Given the description of an element on the screen output the (x, y) to click on. 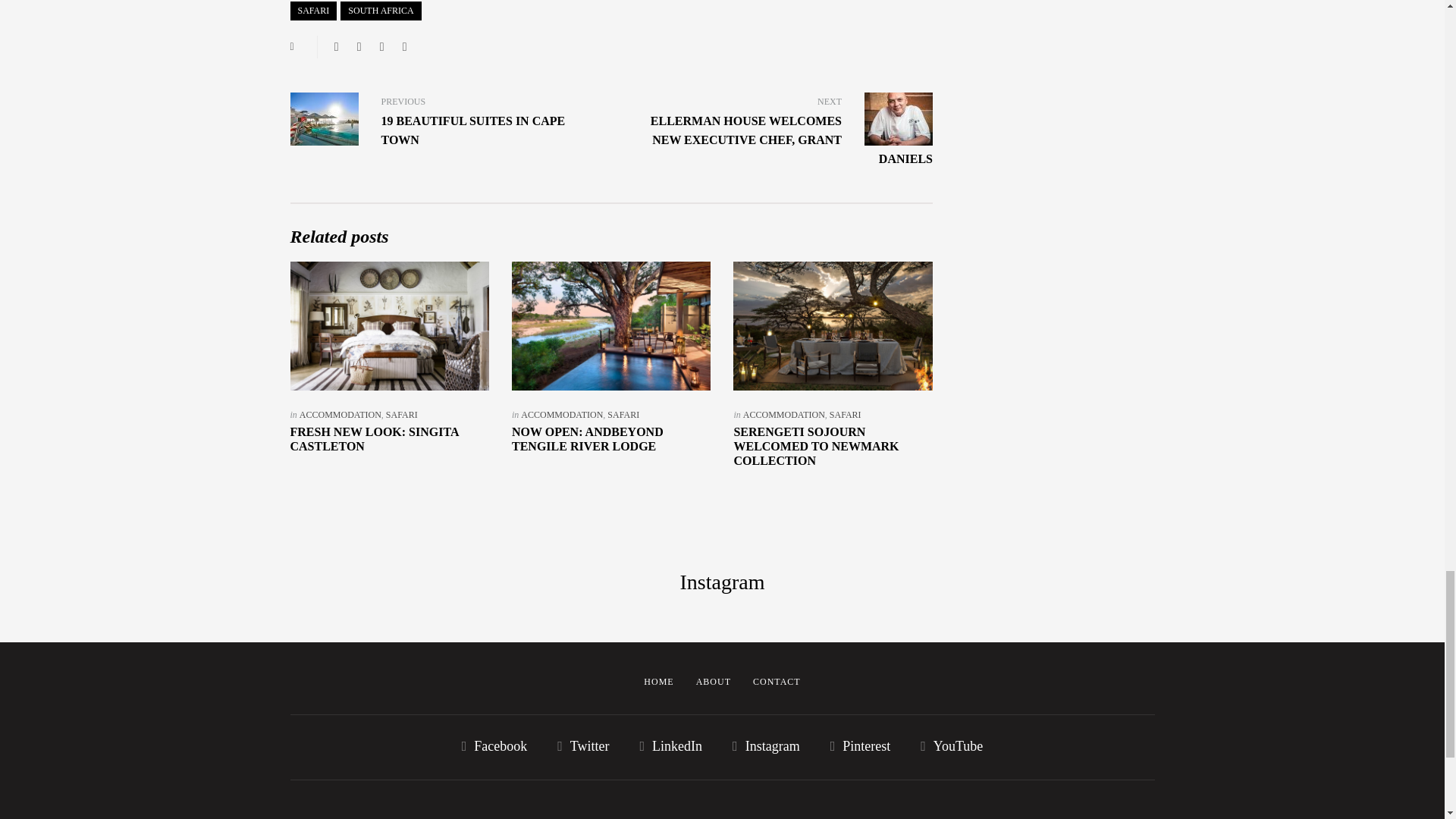
Tweet this (359, 47)
SAFARI (312, 10)
Share this (335, 47)
SOUTH AFRICA (380, 10)
Share with Google Plus (382, 47)
Pin this (404, 47)
